Given the description of an element on the screen output the (x, y) to click on. 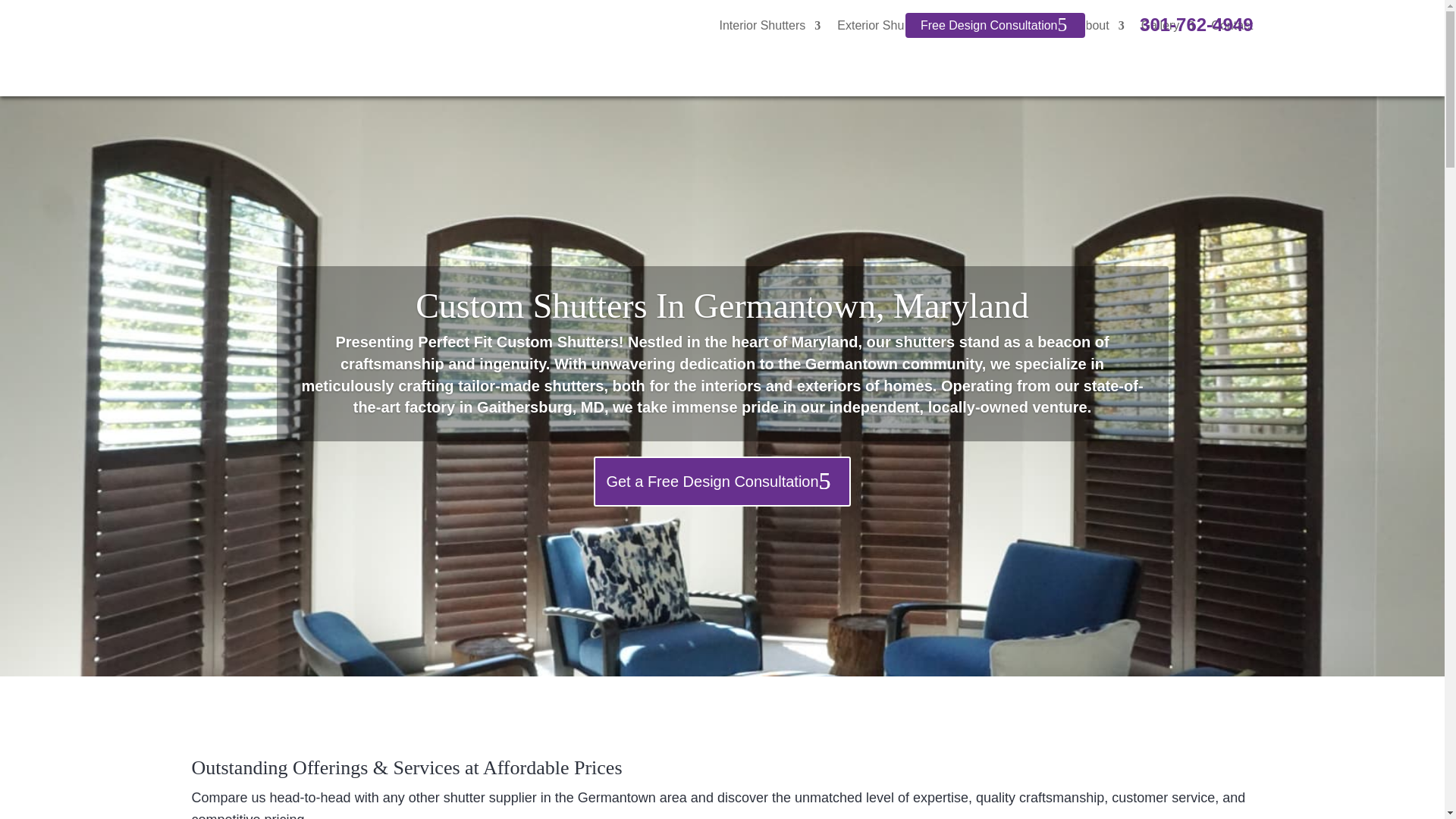
Exterior Shutters (889, 25)
Interior Shutters (770, 25)
Blinds and Shades (1009, 25)
Free Design Consultation (995, 25)
About (1100, 25)
Get a Free Design Consultation (722, 510)
301-762-4949 (1196, 24)
Contact (1231, 25)
Gallery (1168, 25)
